Given the description of an element on the screen output the (x, y) to click on. 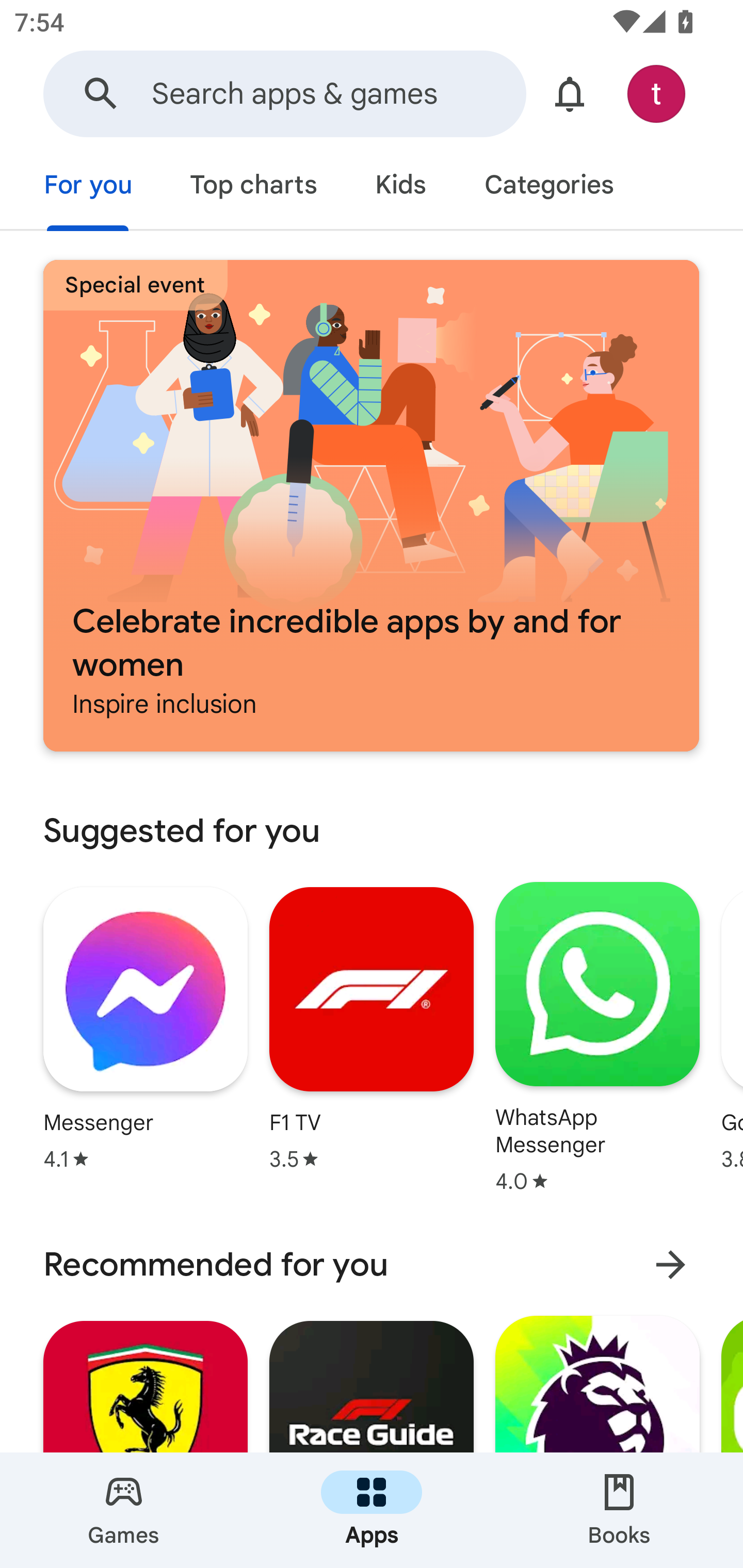
Search Google Play Search apps & games (284, 93)
Search Google Play (100, 93)
Show notifications and offers. (569, 93)
Top charts (253, 187)
Kids (400, 187)
Categories (548, 187)
Messenger
Star rating: 4.1
 (145, 1028)
F1 TV
Star rating: 3.5
 (371, 1028)
WhatsApp Messenger
Star rating: 4.0
 (597, 1037)
More results for Recommended for you (670, 1264)
Games (123, 1509)
Books (619, 1509)
